Given the description of an element on the screen output the (x, y) to click on. 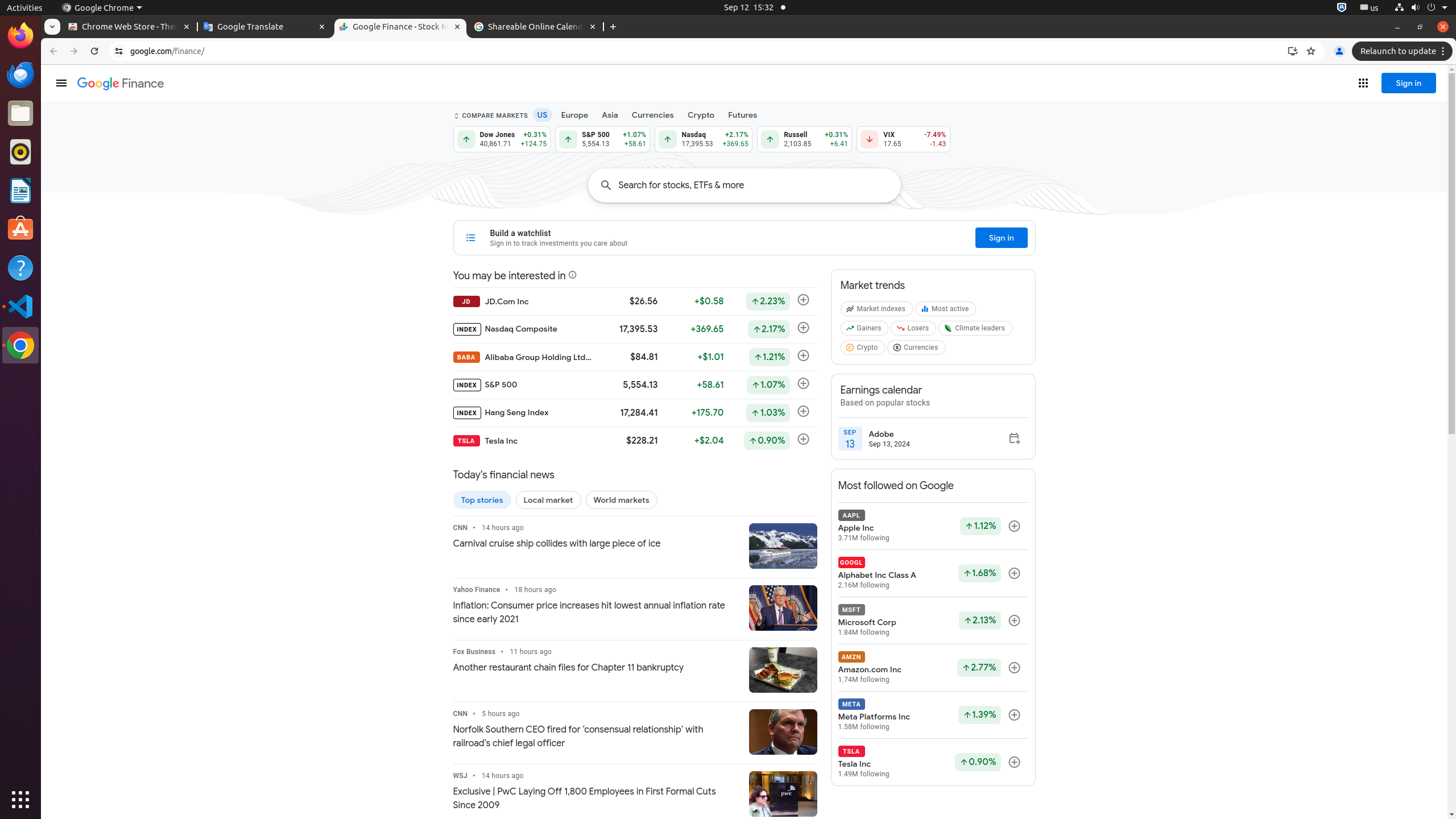
Thunderbird Mail Element type: push-button (20, 74)
Futures Element type: page-tab (742, 114)
Yahoo Finance •  18 hours ago Inflation: Consumer price increases hit lowest annual inflation rate since early 2021 Element type: link (595, 605)
Follow Element type: push-button (1014, 762)
CNN •  5 hours ago Norfolk Southern CEO fired for ‘consensual relationship’ with railroad’s chief legal officer Element type: link (595, 729)
